Given the description of an element on the screen output the (x, y) to click on. 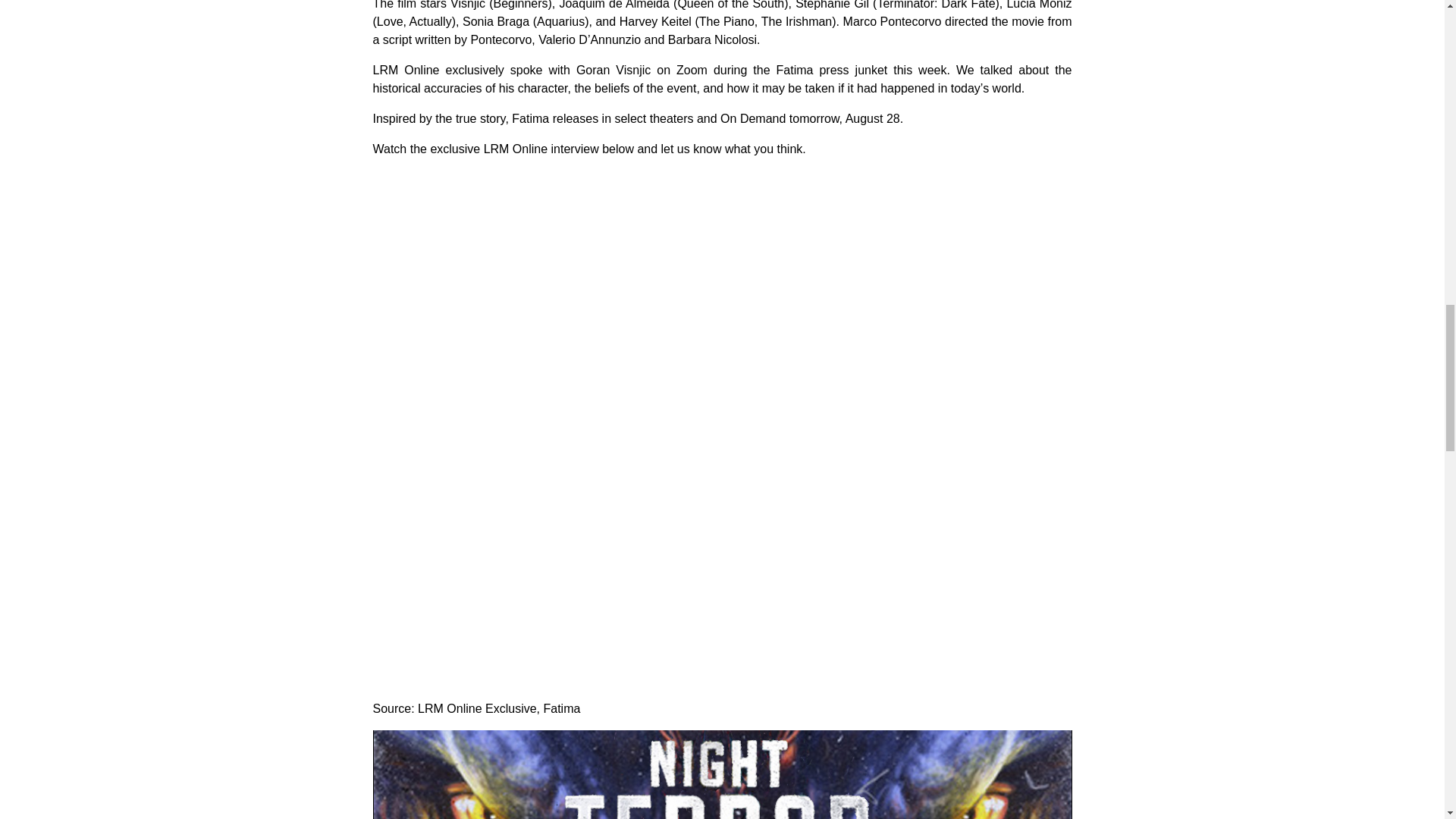
Fatima (561, 707)
